Given the description of an element on the screen output the (x, y) to click on. 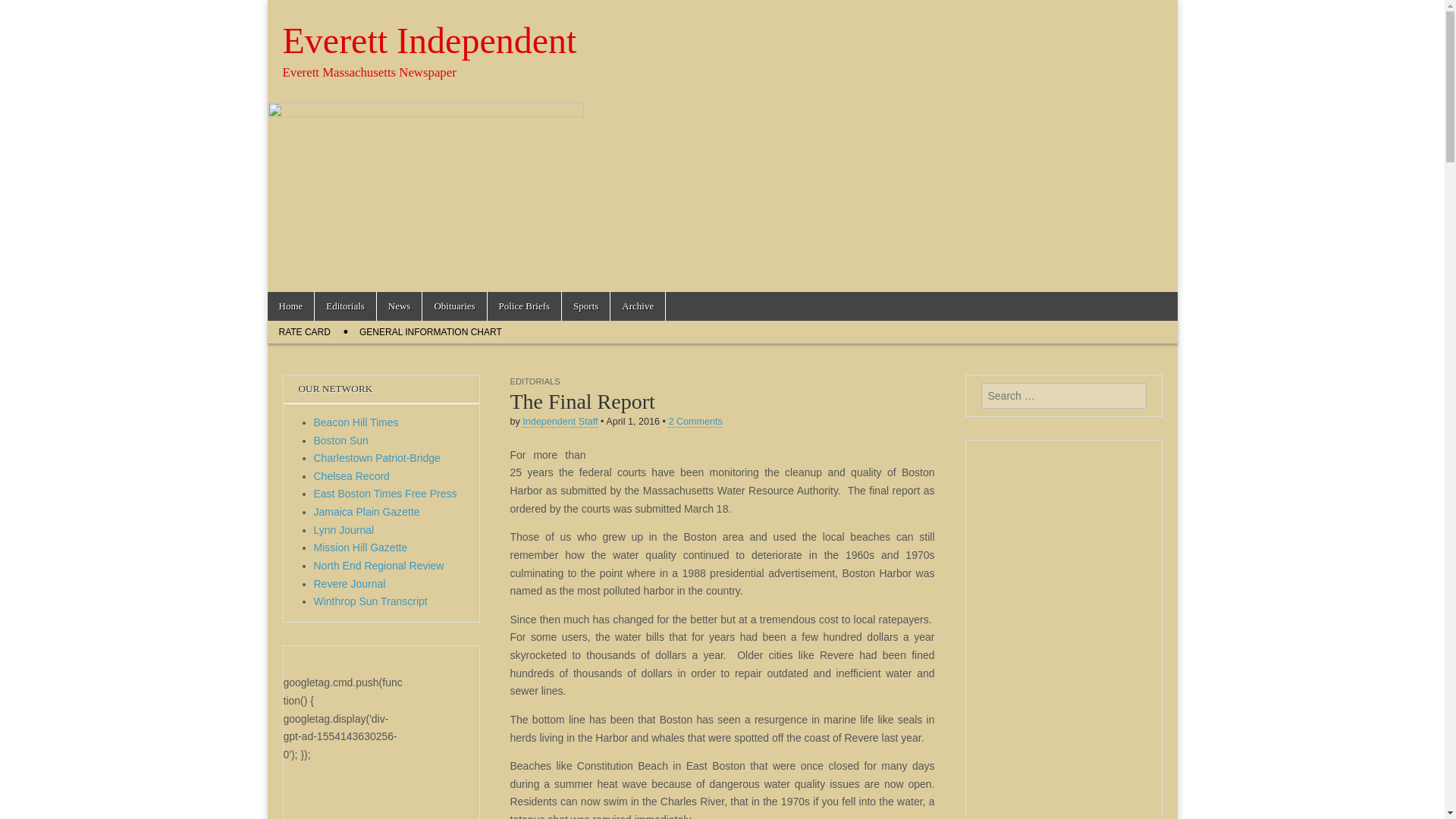
Everett Independent (429, 40)
Archive (637, 306)
Mission Hill Gazette (360, 547)
Obituaries (454, 306)
Boston Sun (341, 440)
Charlestown Patriot-Bridge (377, 458)
RATE CARD (303, 332)
Posts by Independent Staff (559, 421)
North End Regional Review (379, 565)
